Given the description of an element on the screen output the (x, y) to click on. 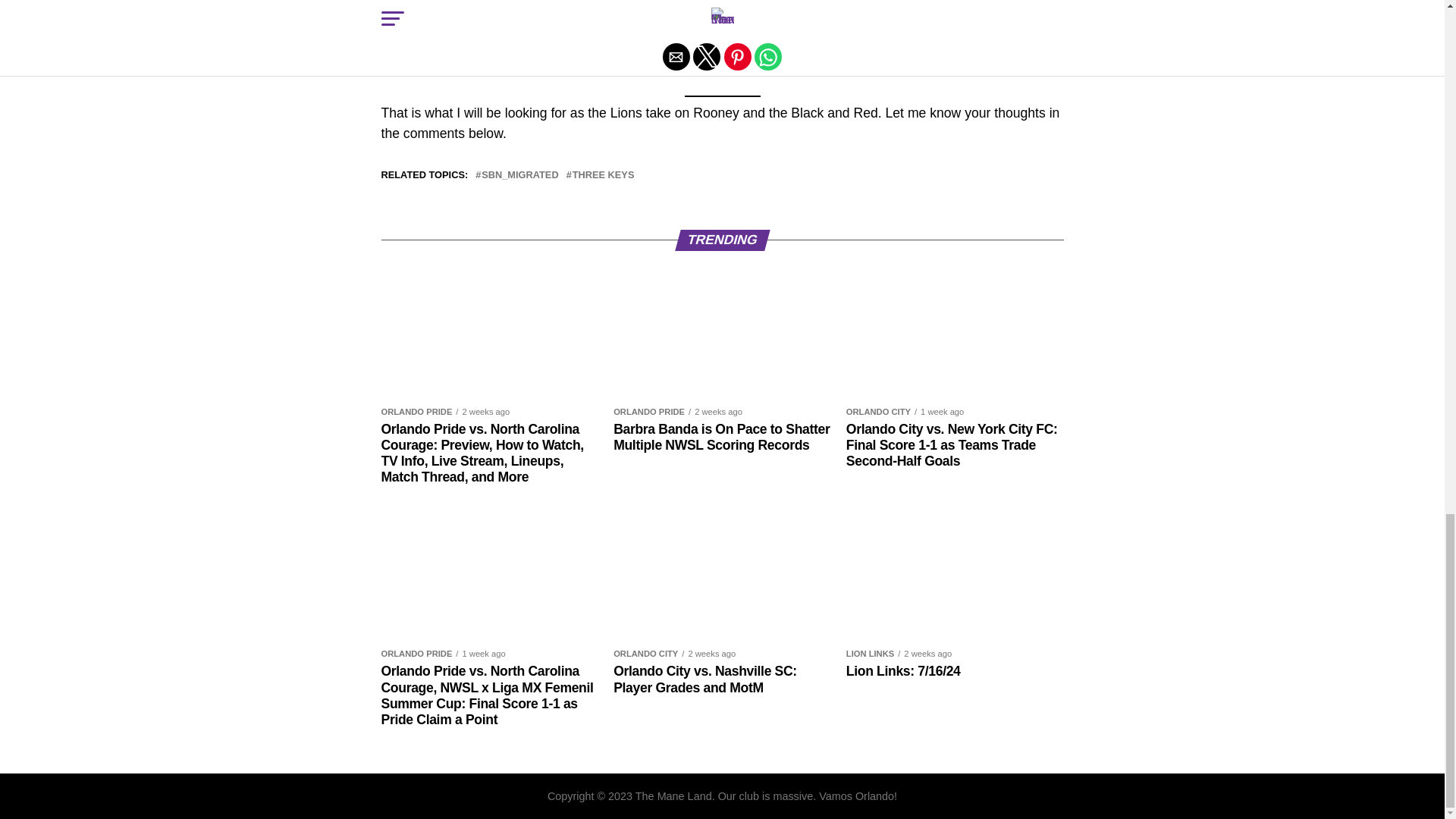
THREE KEYS (603, 175)
